Given the description of an element on the screen output the (x, y) to click on. 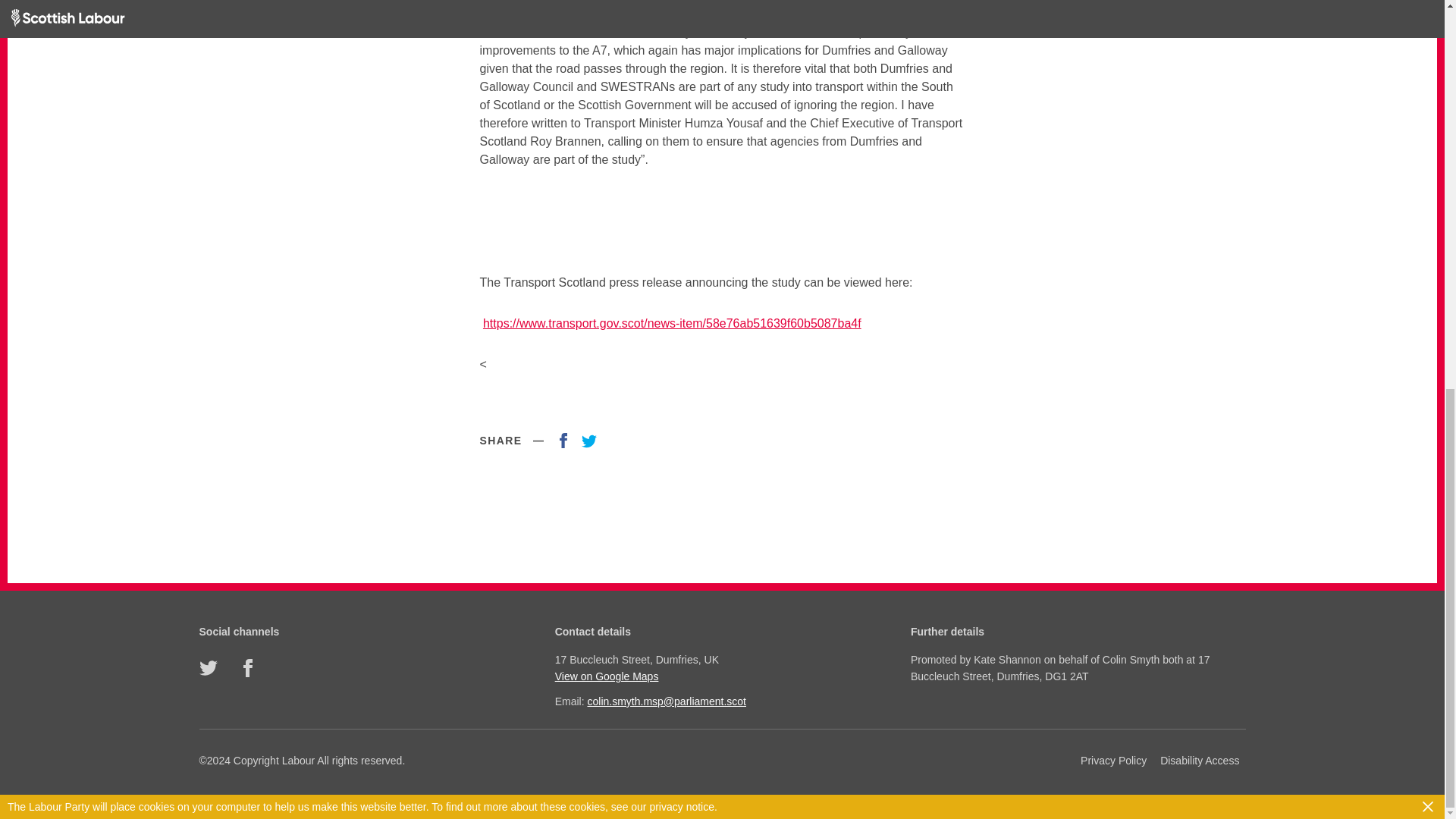
Privacy Policy (1113, 760)
View on Google Maps (719, 676)
Disability Access (1199, 760)
